Given the description of an element on the screen output the (x, y) to click on. 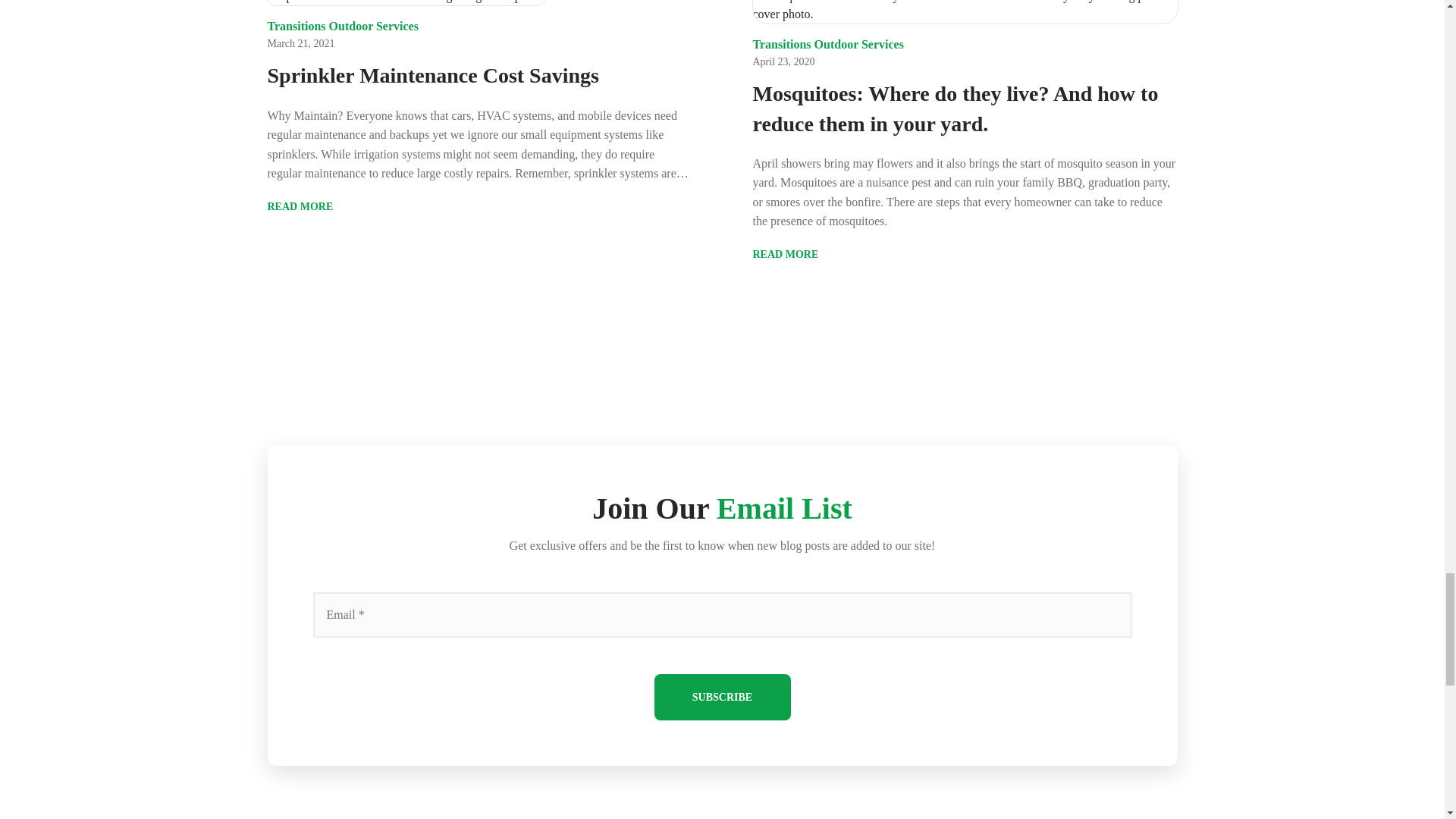
Sprinkler Maintenance Cost Savings (478, 75)
READ MORE (796, 254)
READ MORE (309, 206)
SUBSCRIBE (721, 697)
